Given the description of an element on the screen output the (x, y) to click on. 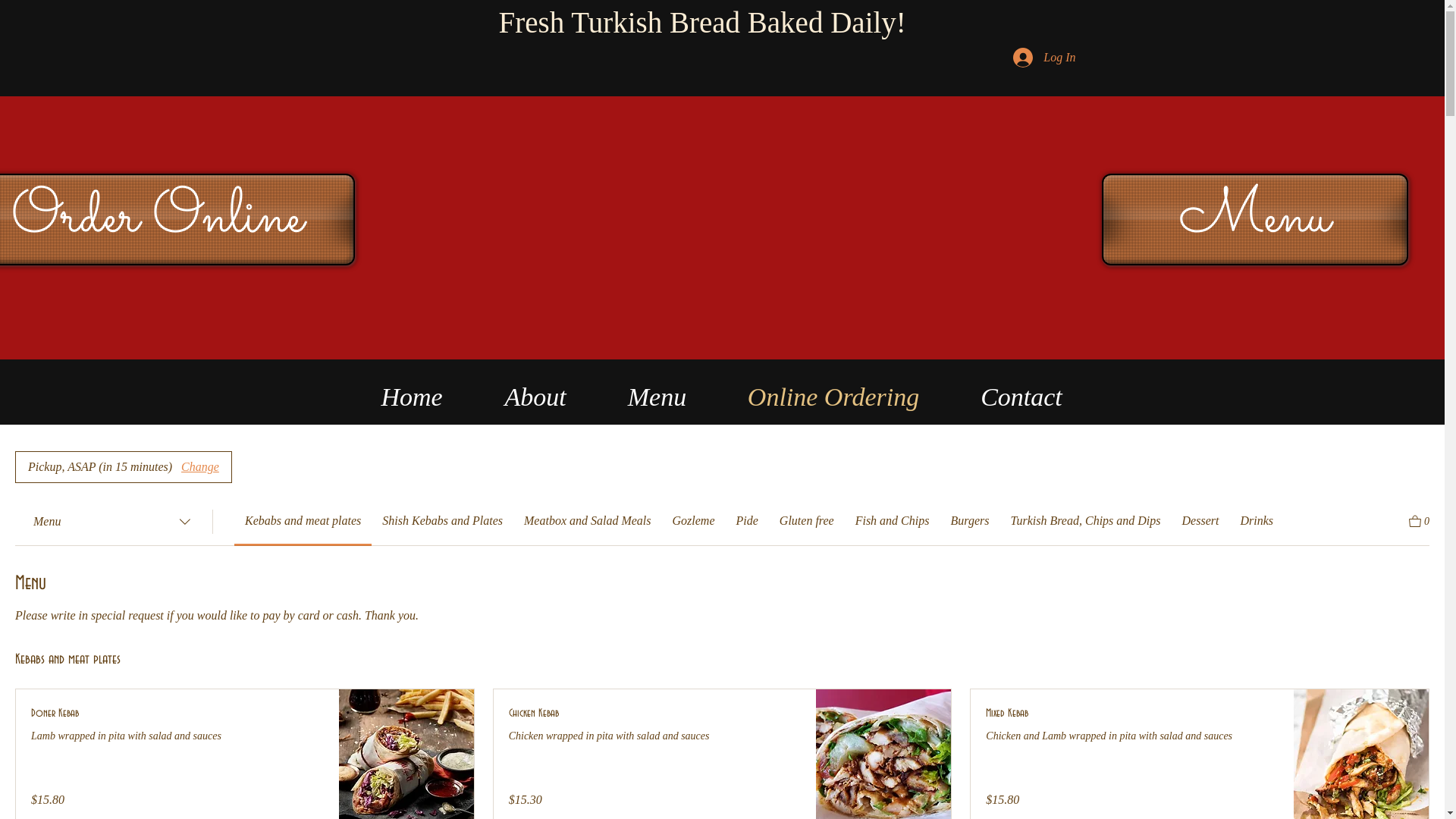
Online Ordering Element type: text (833, 391)
About Element type: text (534, 391)
Change Element type: text (200, 467)
Menu Element type: text (1254, 219)
Mixed Kebab Element type: text (1131, 713)
Doner Kebab Element type: text (177, 713)
Contact Element type: text (1020, 391)
Menu Element type: text (657, 391)
0 Element type: text (1418, 519)
Chicken Kebab Element type: text (654, 713)
Menu Element type: text (113, 521)
Log In Element type: text (1043, 57)
Home Element type: text (411, 391)
